Given the description of an element on the screen output the (x, y) to click on. 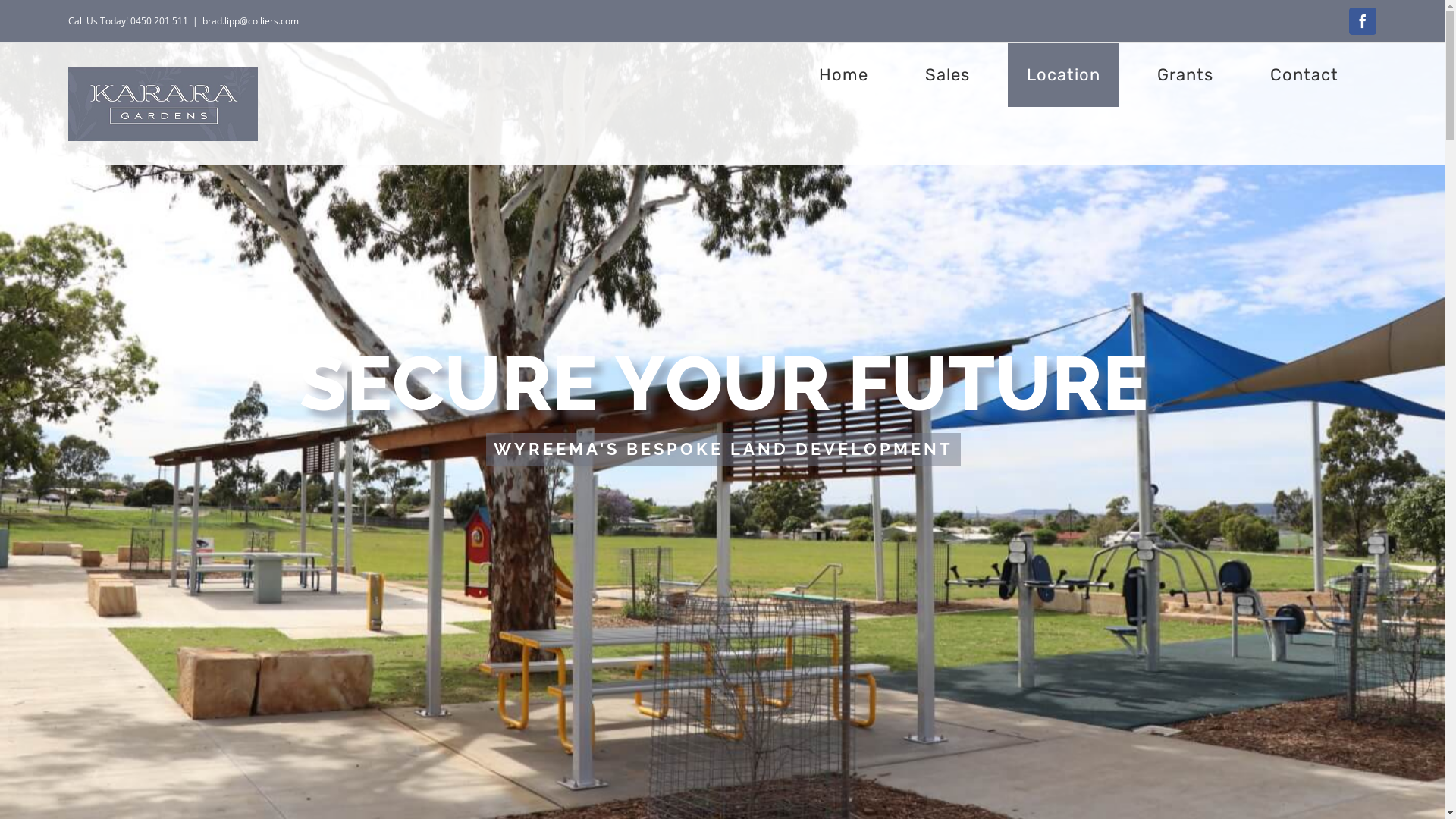
Home Element type: text (843, 74)
Grants Element type: text (1185, 74)
Sales Element type: text (947, 74)
Location Element type: text (1063, 74)
brad.lipp@colliers.com Element type: text (250, 20)
Facebook Element type: text (1362, 20)
Contact Element type: text (1304, 74)
